Given the description of an element on the screen output the (x, y) to click on. 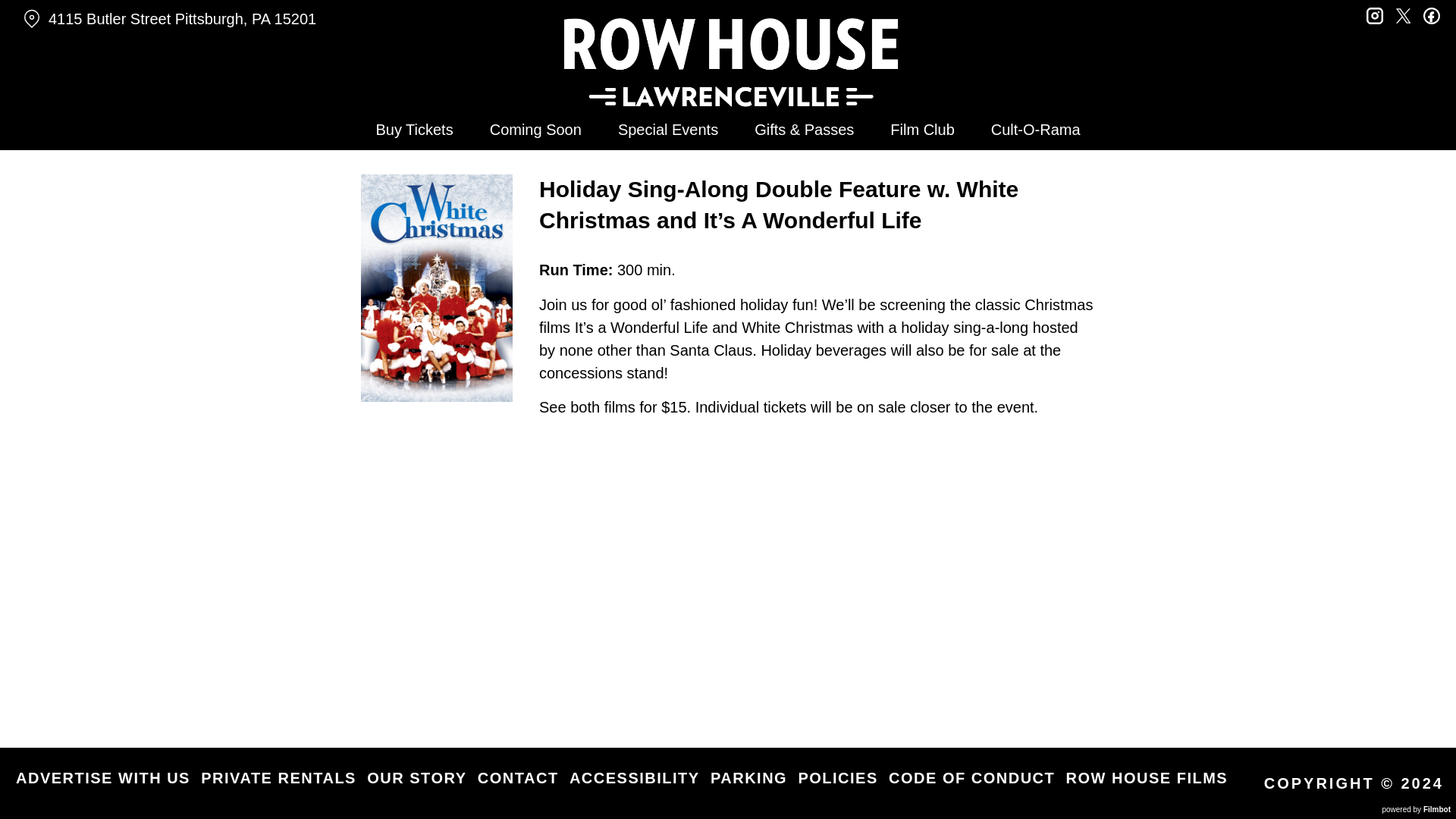
Film Club (921, 128)
Coming Soon (535, 128)
twitter (1402, 13)
PRIVATE RENTALS (278, 778)
instagram (1375, 13)
ADVERTISE WITH US (103, 778)
CODE OF CONDUCT (971, 778)
CONTACT (518, 778)
facebook (1431, 13)
Cult-O-Rama (1035, 128)
ROW HOUSE FILMS (1146, 778)
OUR STORY (415, 778)
POLICIES (837, 778)
4115 Butler Street Pittsburgh, PA 15201 (252, 18)
PARKING (748, 778)
